Given the description of an element on the screen output the (x, y) to click on. 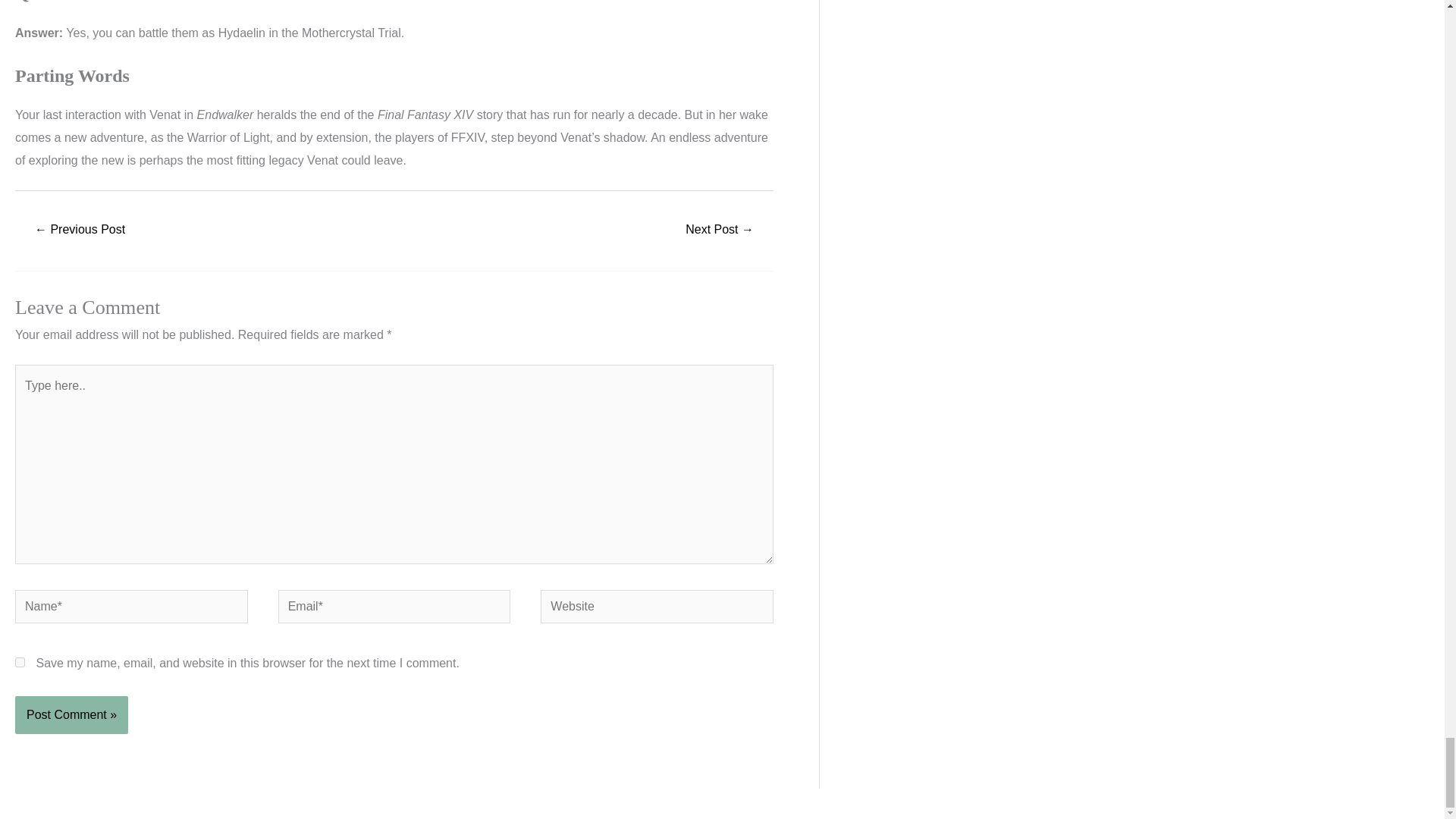
Final Fantasy XVI Ability Point Farming Guide (718, 230)
Anamnesis Final Fantasy Guide - Bismarck, the Uber Primal (79, 230)
yes (19, 662)
